Given the description of an element on the screen output the (x, y) to click on. 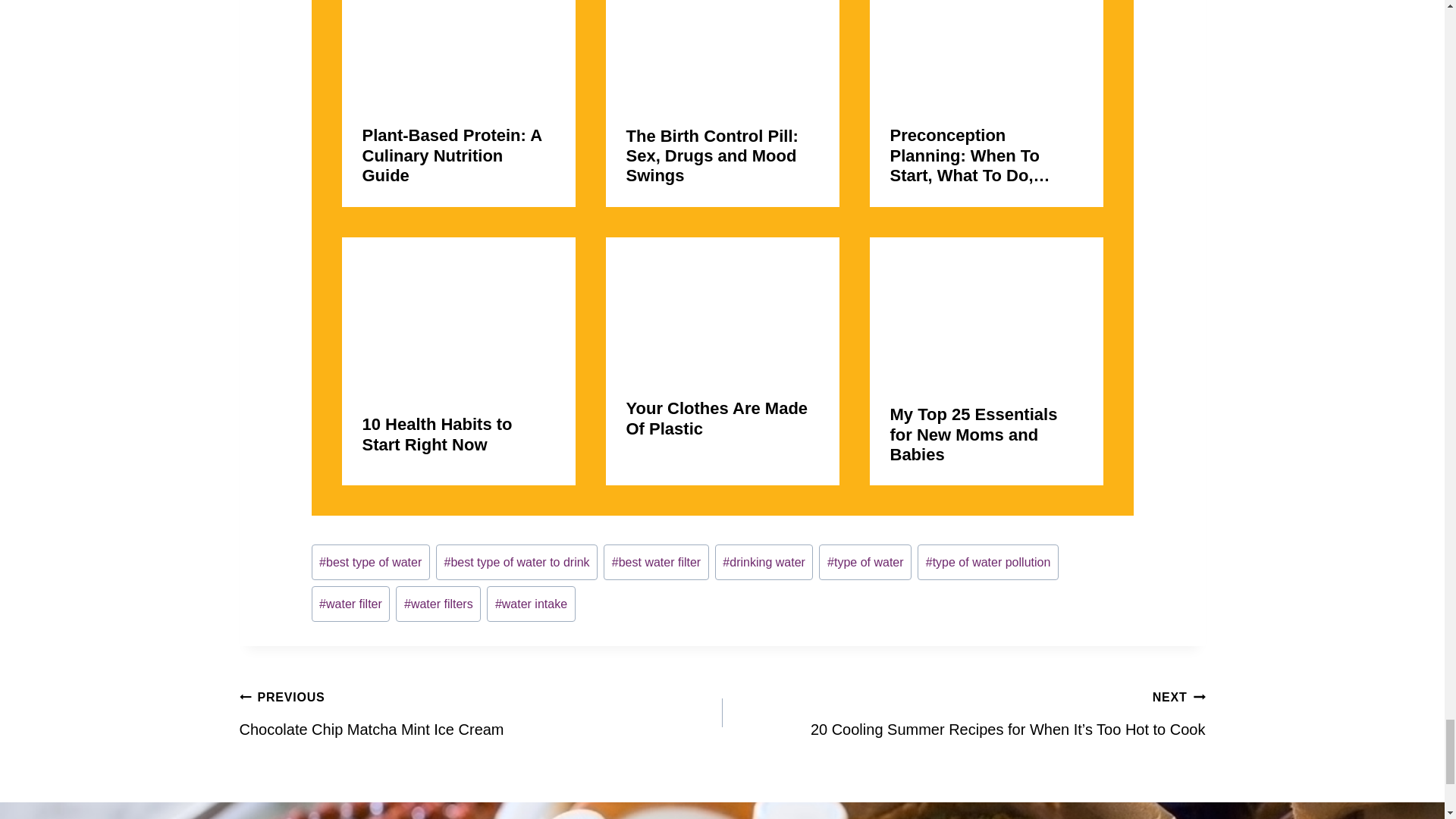
The Birth Control Pill: Sex, Drugs and Mood Swings (722, 53)
Plant-Based Protein: A Culinary Nutrition Guide (458, 53)
